Given the description of an element on the screen output the (x, y) to click on. 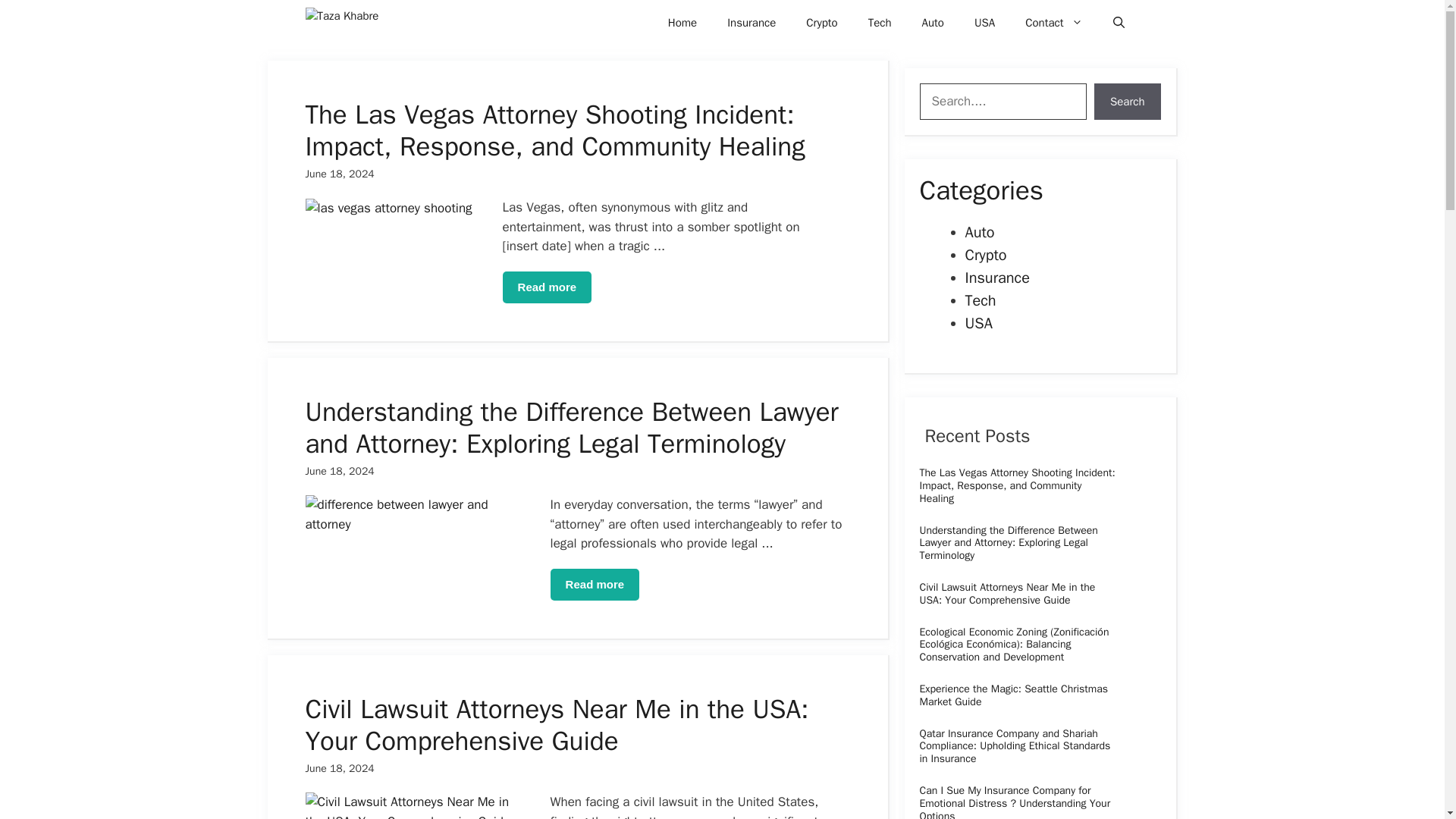
Read more (547, 287)
Contact (1053, 22)
Crypto (820, 22)
Taza Khabre (348, 22)
Auto (933, 22)
Tech (880, 22)
Home (681, 22)
Read more (595, 584)
